Given the description of an element on the screen output the (x, y) to click on. 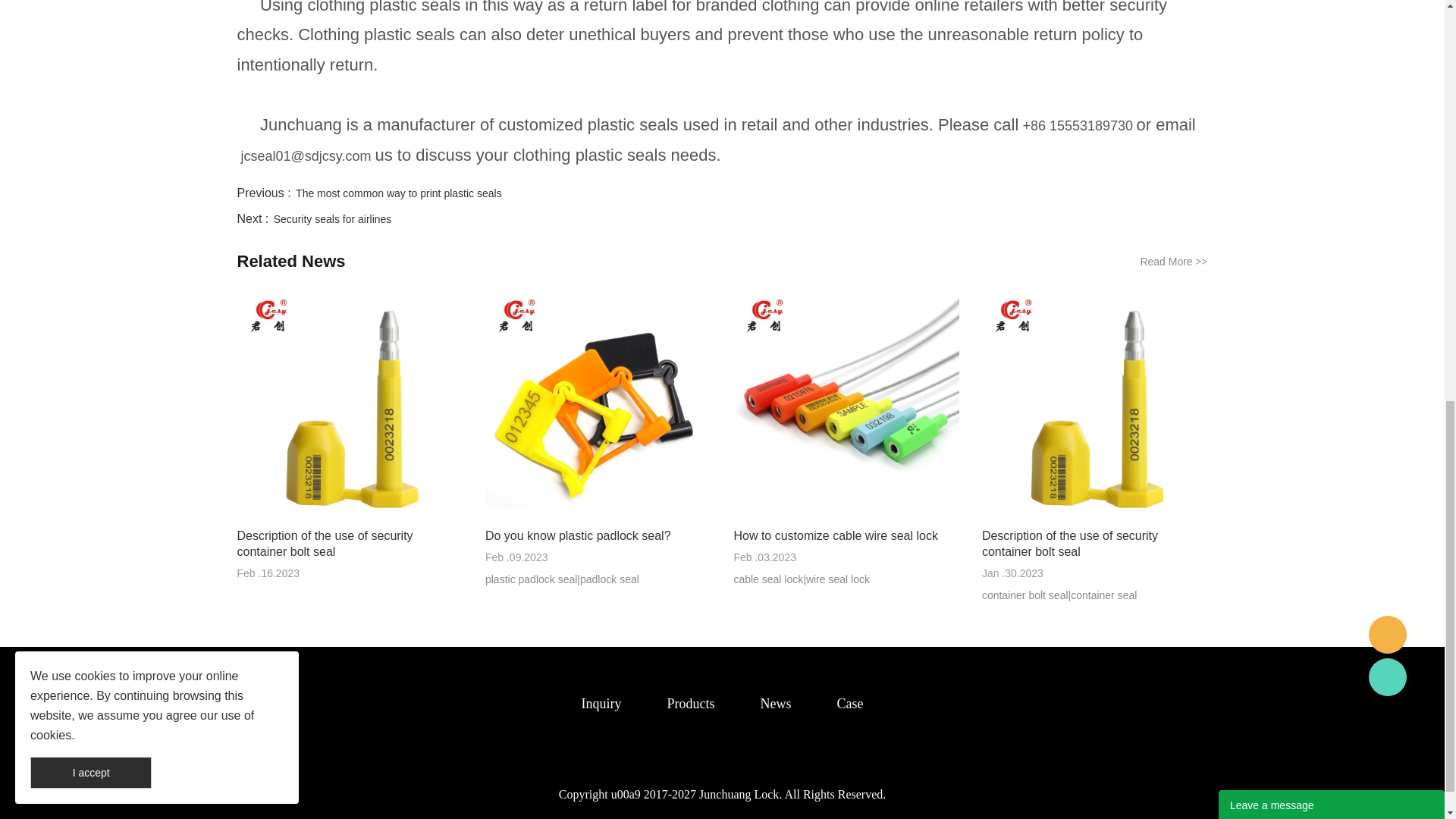
Send (1331, 179)
